Given the description of an element on the screen output the (x, y) to click on. 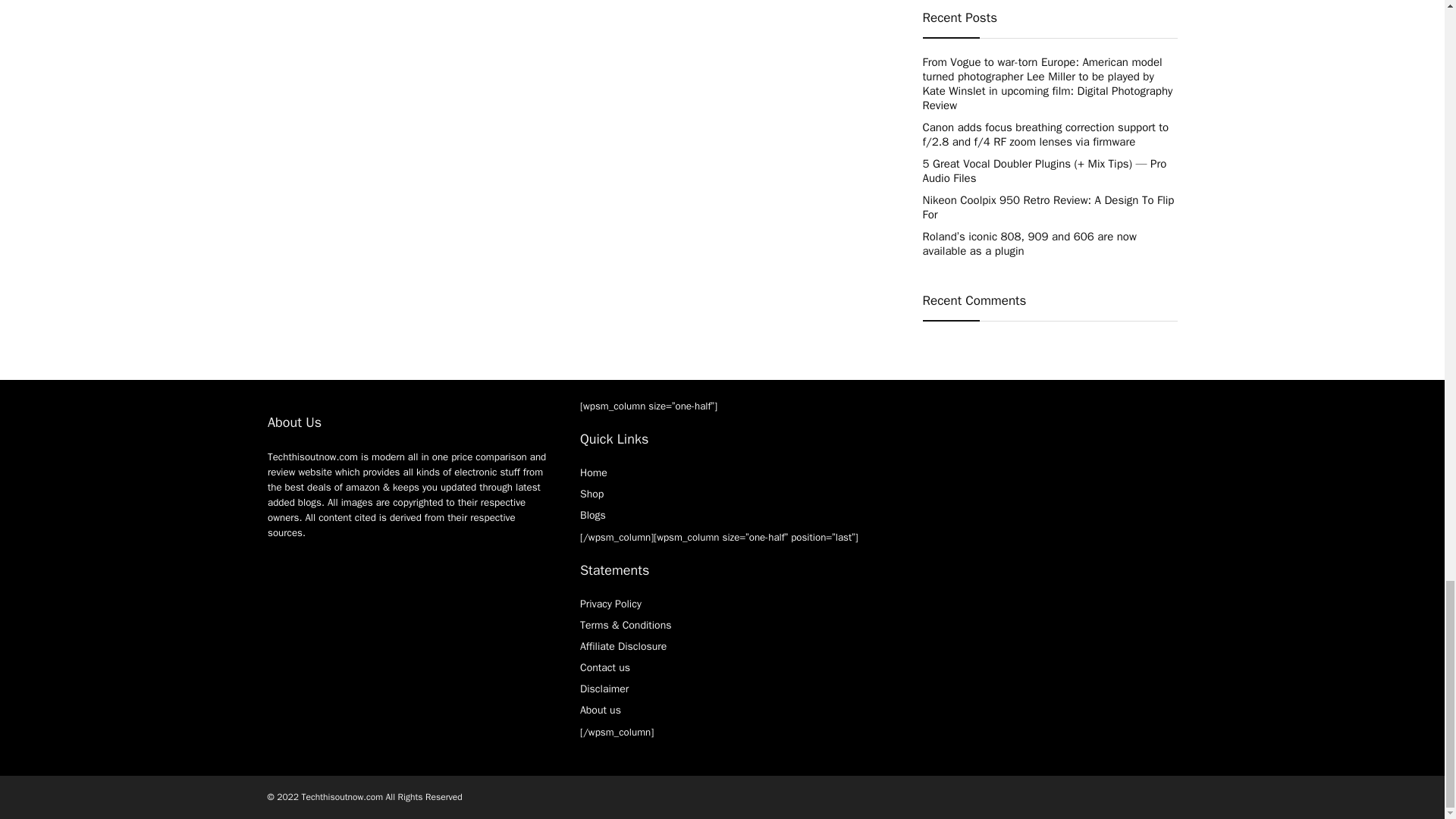
Shop (591, 493)
Home (593, 472)
Nikeon Coolpix 950 Retro Review: A Design To Flip For (1047, 207)
